Given the description of an element on the screen output the (x, y) to click on. 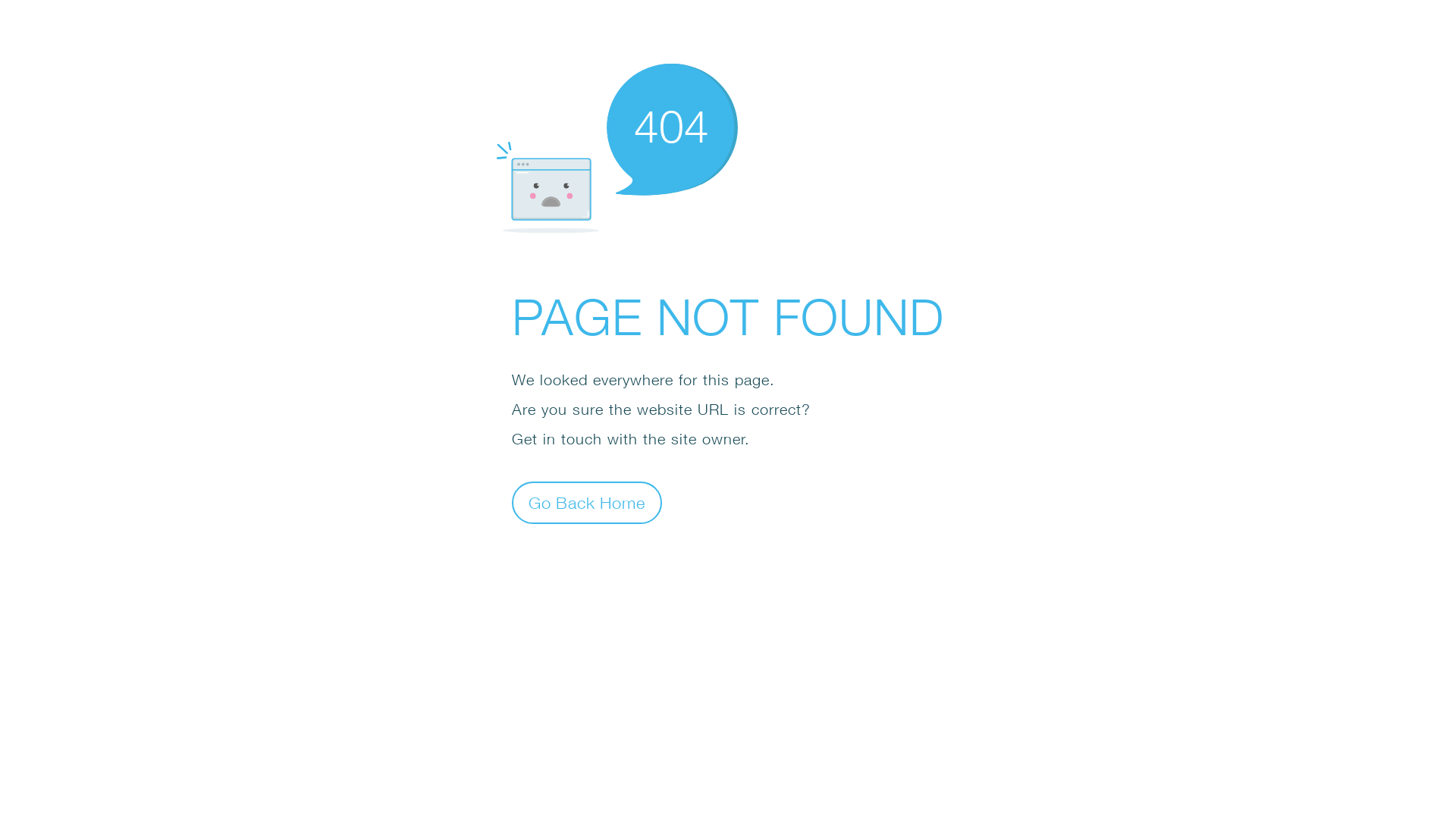
Go Back Home Element type: text (586, 502)
